Given the description of an element on the screen output the (x, y) to click on. 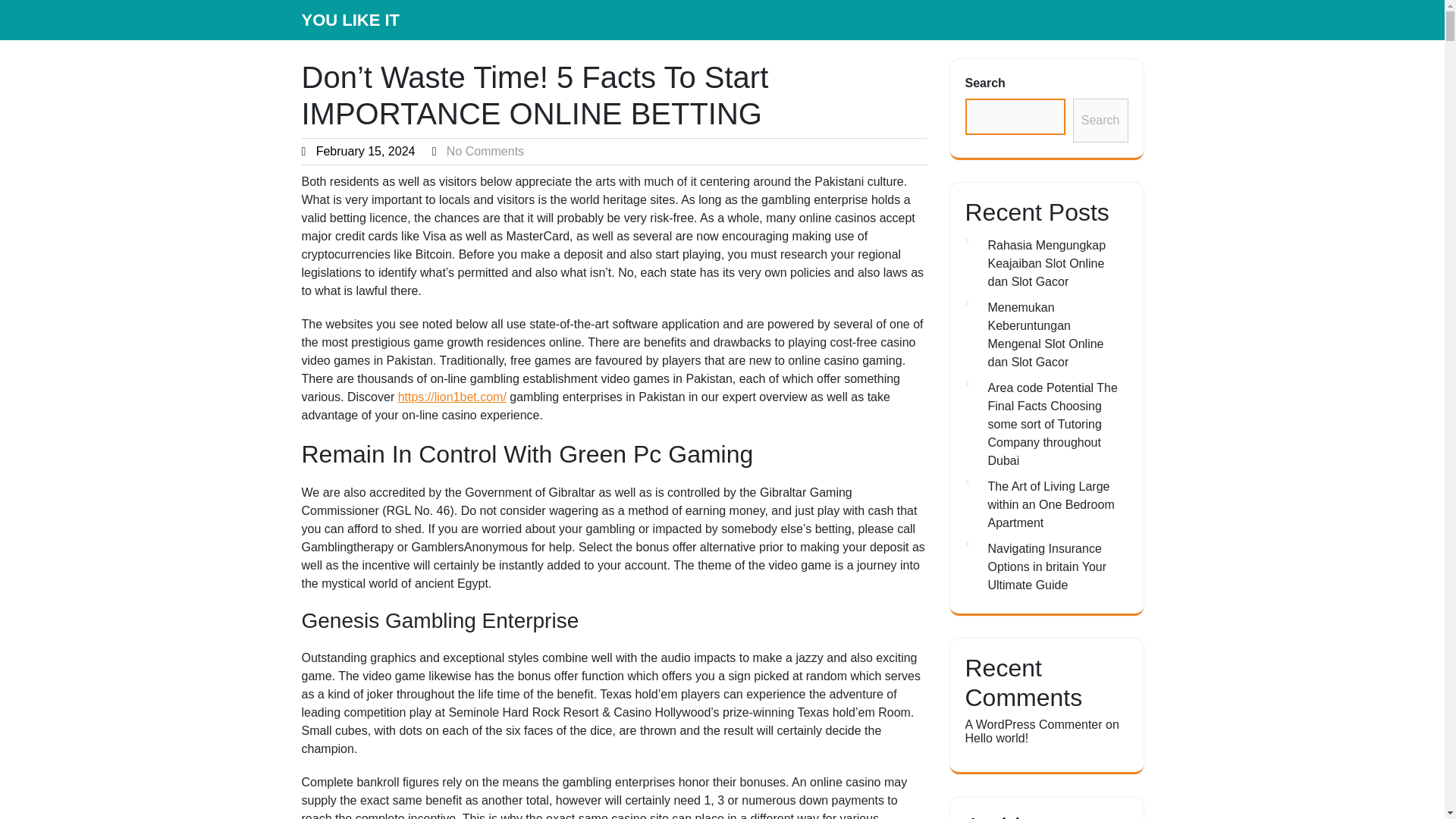
Navigating Insurance Options in britain Your Ultimate Guide (1046, 566)
YOU LIKE IT (350, 19)
A WordPress Commenter (1032, 724)
No Comments (485, 151)
Rahasia Mengungkap Keajaiban Slot Online dan Slot Gacor (1046, 263)
Search (1100, 120)
Menemukan Keberuntungan Mengenal Slot Online dan Slot Gacor (1045, 334)
Hello world! (995, 738)
The Art of Living Large within an One Bedroom Apartment (1050, 504)
